Given the description of an element on the screen output the (x, y) to click on. 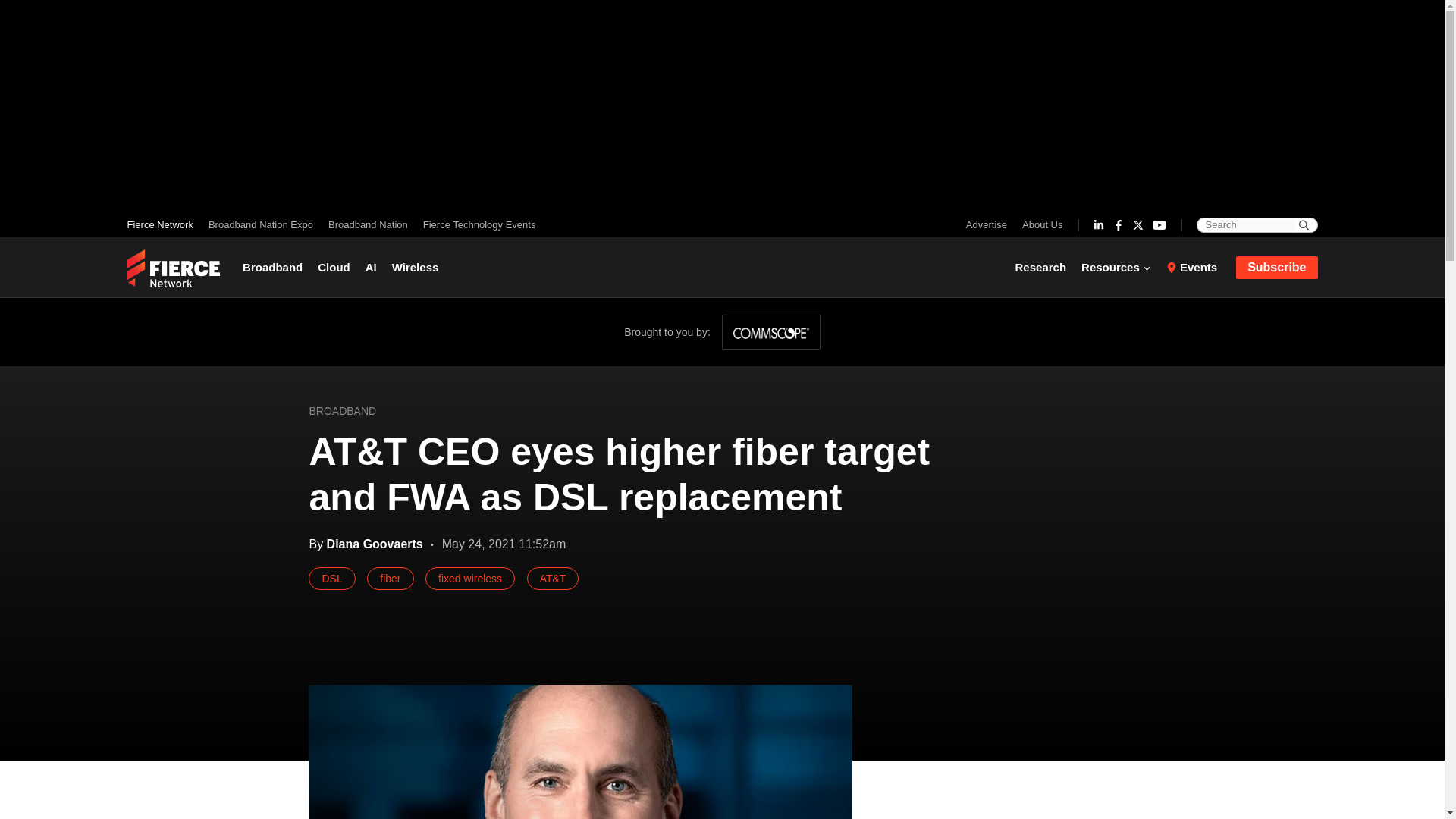
Broadband (276, 266)
Fierce Technology Events (474, 225)
AI (371, 266)
Broadband Nation Expo (260, 225)
Cloud (334, 266)
Subscribe (1276, 267)
Research (1044, 266)
Broadband Nation (367, 225)
Wireless (415, 266)
Advertise (990, 225)
